Given the description of an element on the screen output the (x, y) to click on. 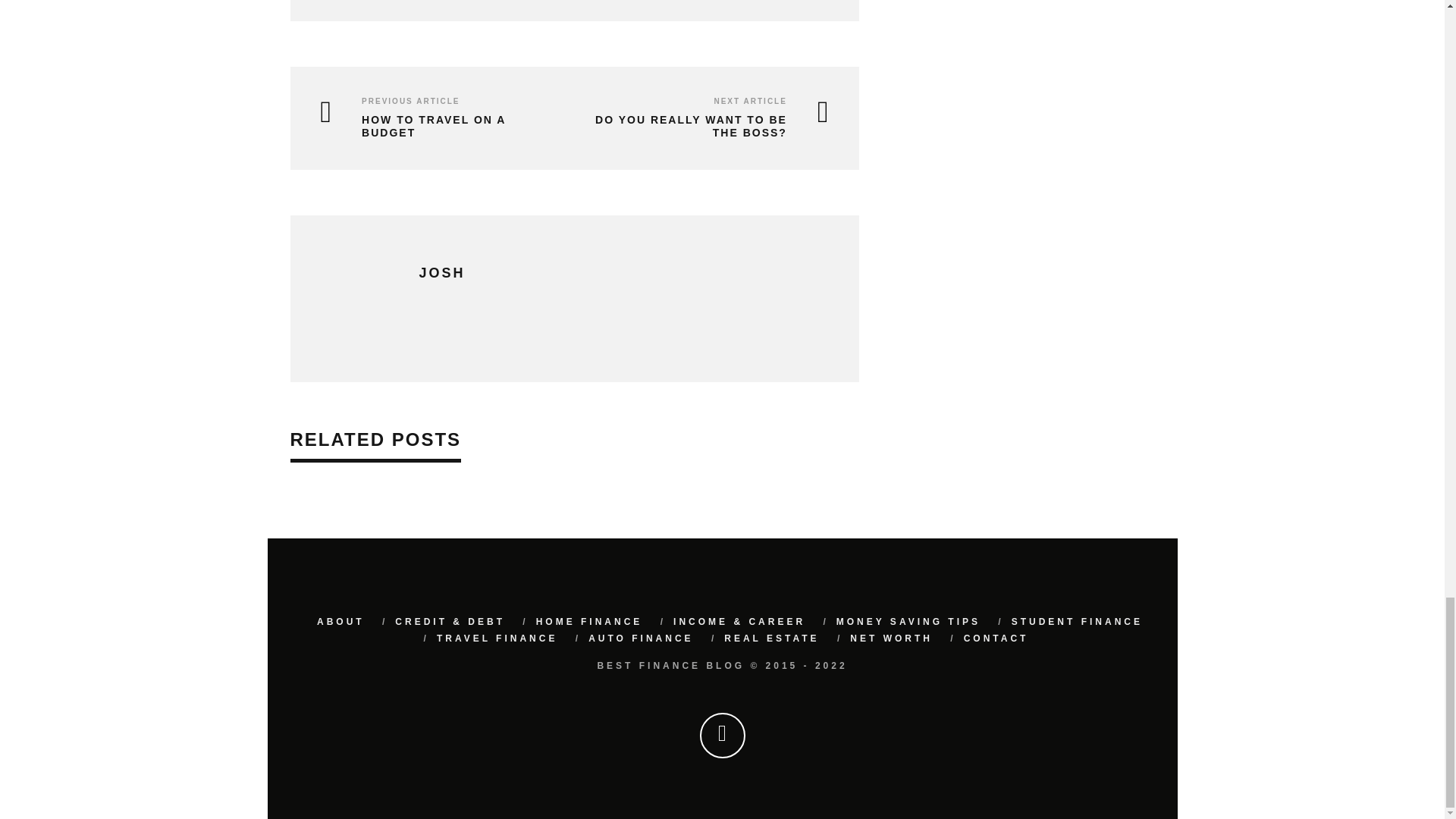
NEXT ARTICLE (749, 101)
JOSH (441, 272)
DO YOU REALLY WANT TO BE THE BOSS? (705, 126)
PREVIOUS ARTICLE (410, 101)
HOW TO TRAVEL ON A BUDGET (435, 126)
